Given the description of an element on the screen output the (x, y) to click on. 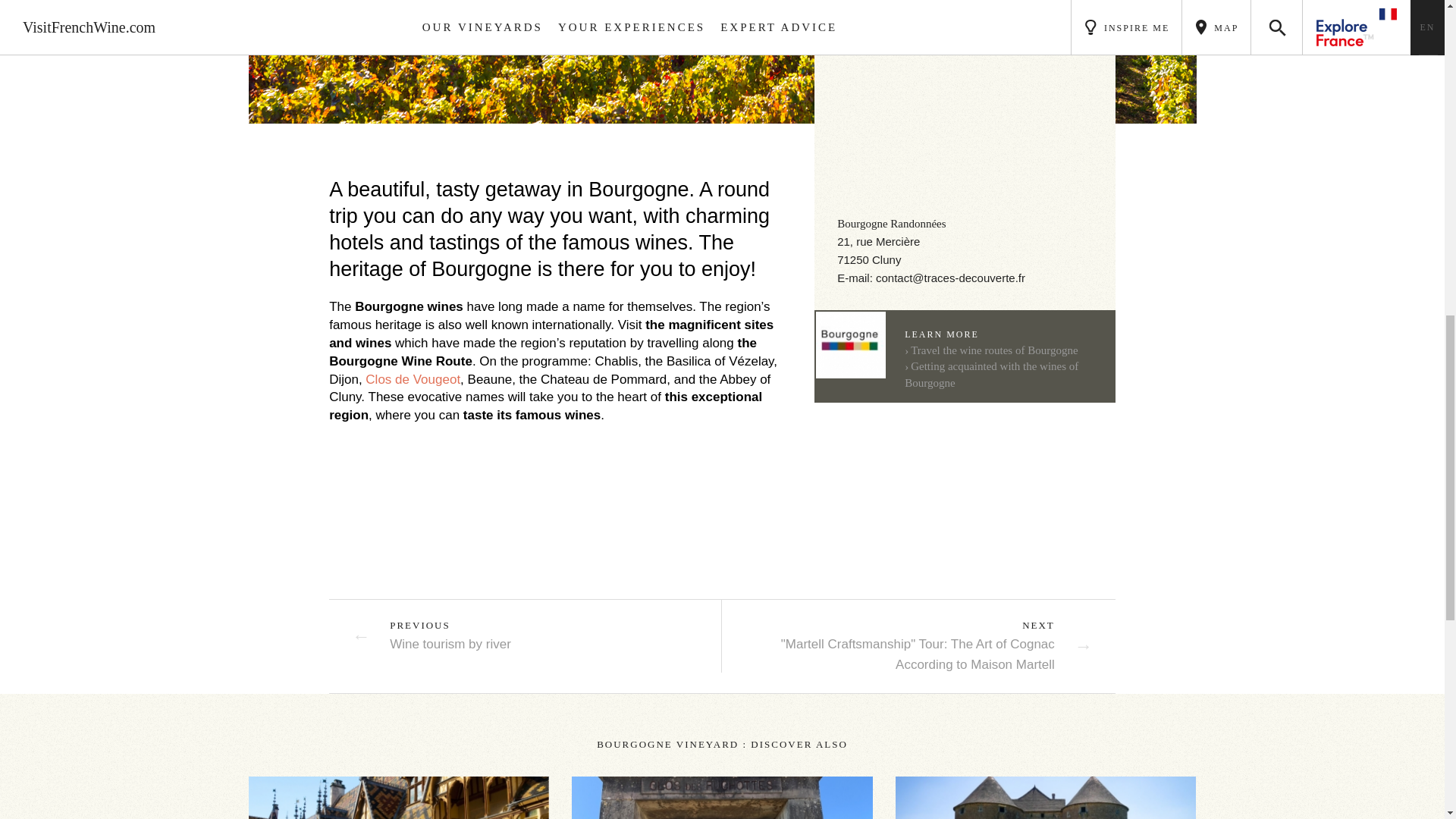
Santenay, wine route of Bourgogne (722, 61)
Travel the wine routes of Bourgogne (990, 349)
8 Reasons to Fall in Love with Burgundy by Kirtsen (1045, 797)
Hospices de Beaune in Bourgogne (399, 797)
Clos de Vougeot (412, 379)
Getting acquainted with the wines of Bourgogne (991, 374)
Bourgogne (399, 797)
